Given the description of an element on the screen output the (x, y) to click on. 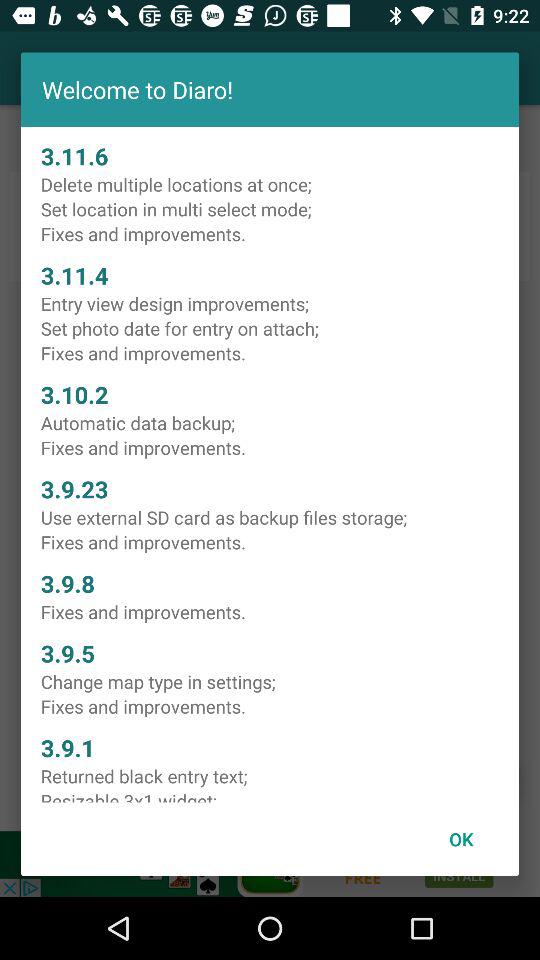
turn on item at the bottom right corner (461, 838)
